Given the description of an element on the screen output the (x, y) to click on. 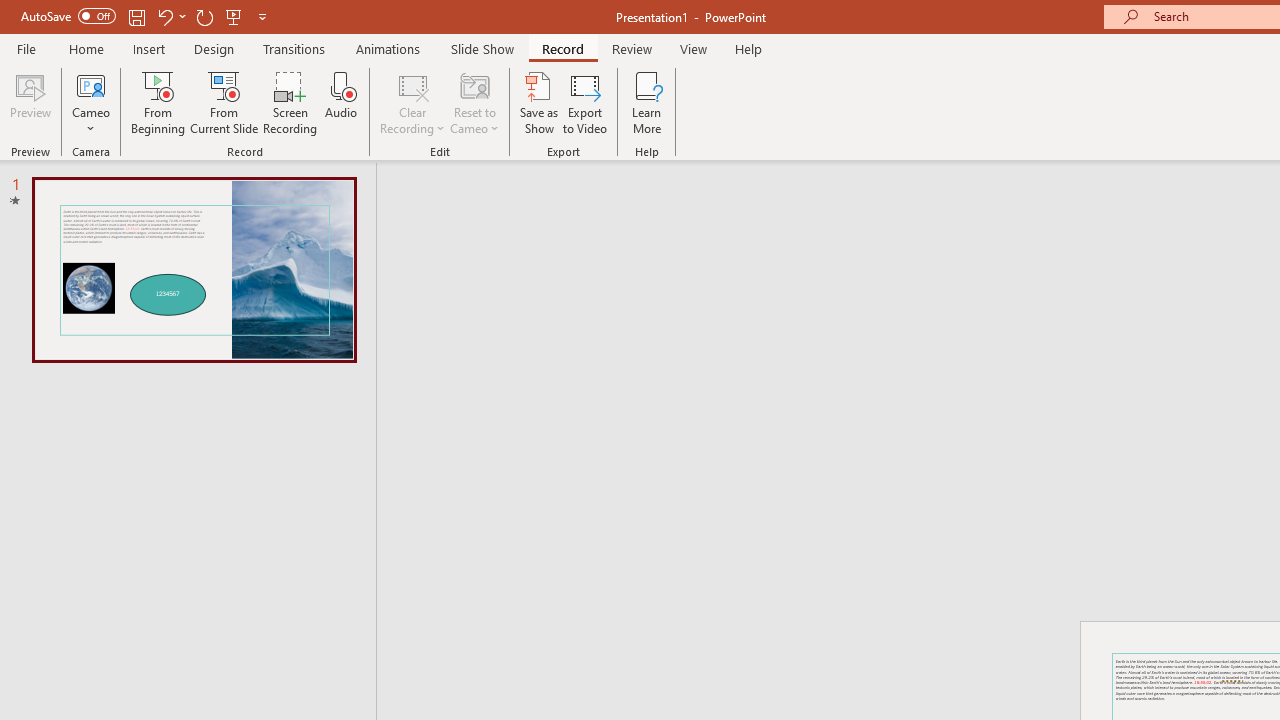
Export to Video (585, 102)
Cameo (91, 84)
Screen Recording (290, 102)
Clear Recording (412, 102)
Reset to Cameo (474, 102)
